Given the description of an element on the screen output the (x, y) to click on. 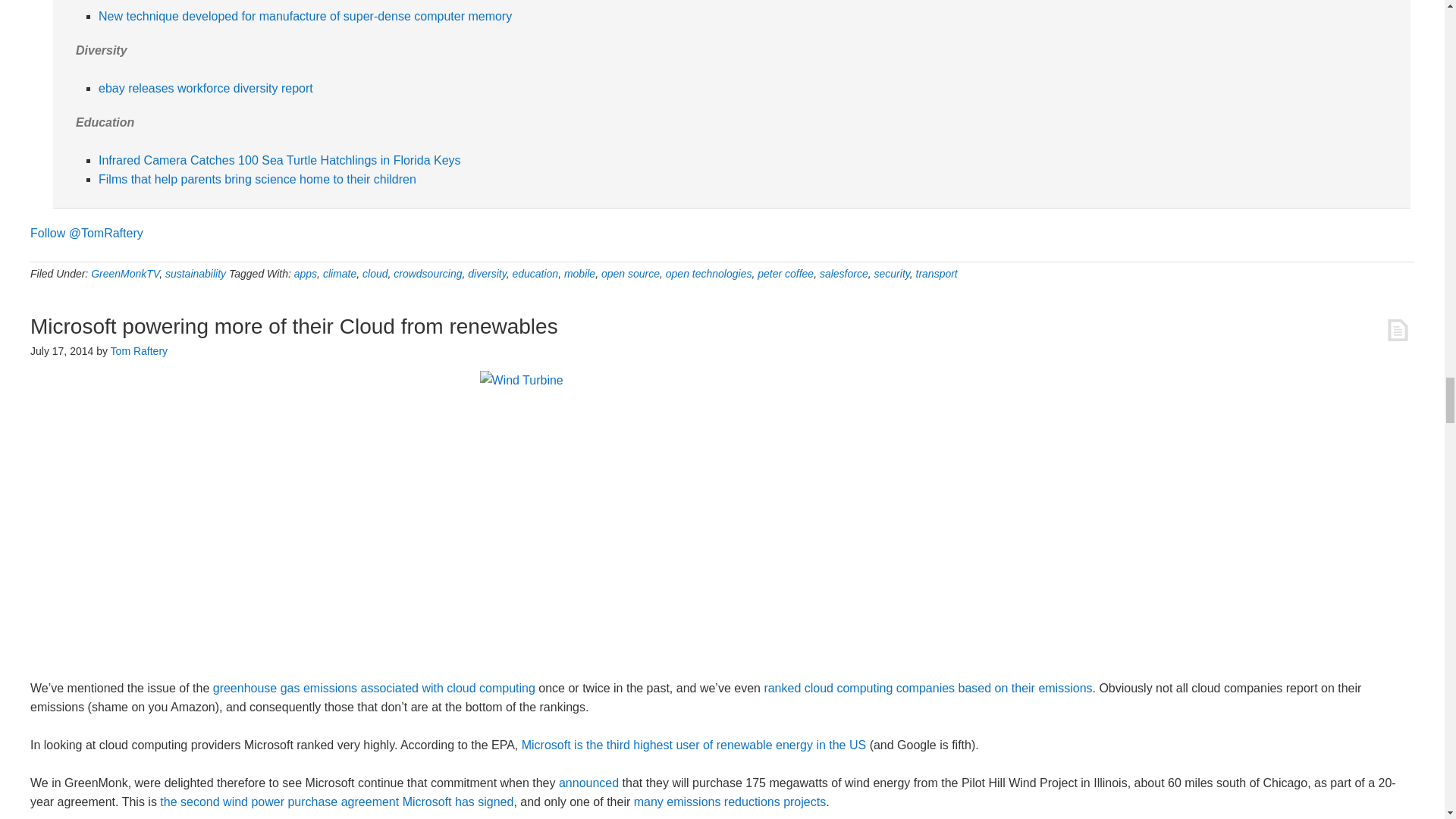
Microsoft powering more of their Cloud from renewables (293, 325)
